Given the description of an element on the screen output the (x, y) to click on. 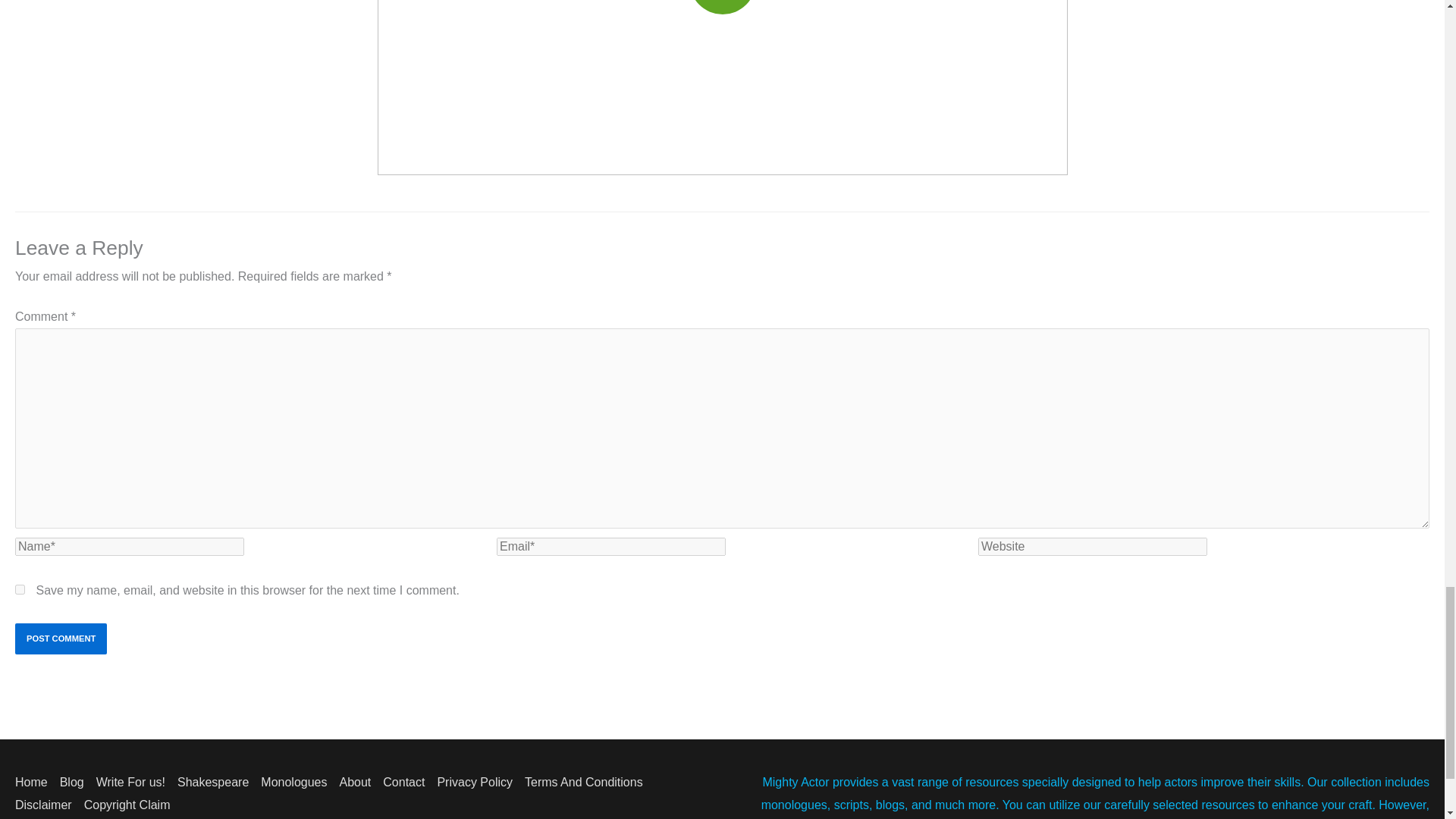
Copyright Claim (133, 804)
Terms And Conditions (589, 781)
Post Comment (60, 638)
About (360, 781)
Contact (409, 781)
Privacy Policy (480, 781)
yes (19, 589)
Write For us! (136, 781)
Monologues (299, 781)
Electra by Euripides:  A Summary (722, 87)
